Given the description of an element on the screen output the (x, y) to click on. 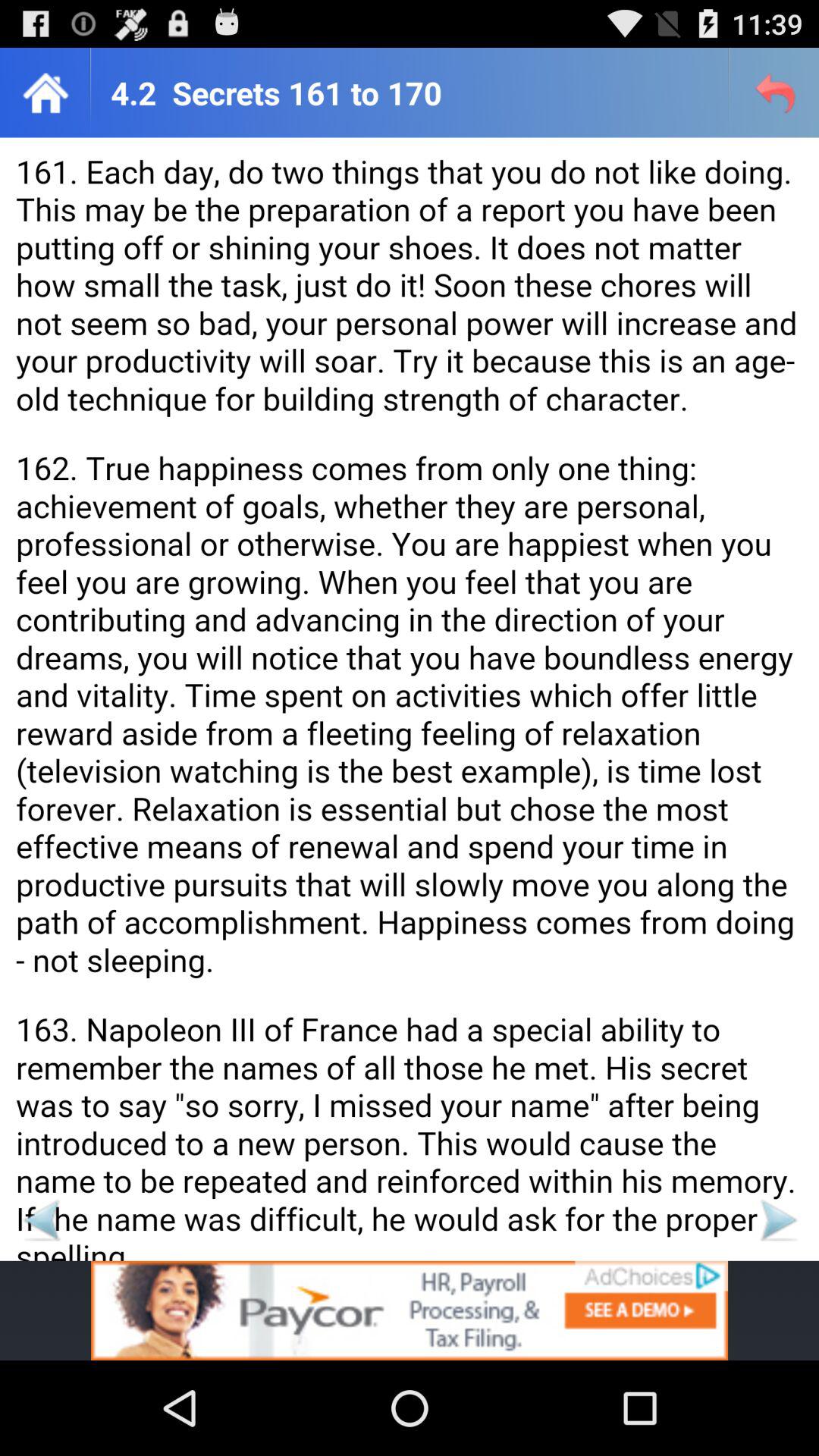
move to the next page (777, 1219)
